Given the description of an element on the screen output the (x, y) to click on. 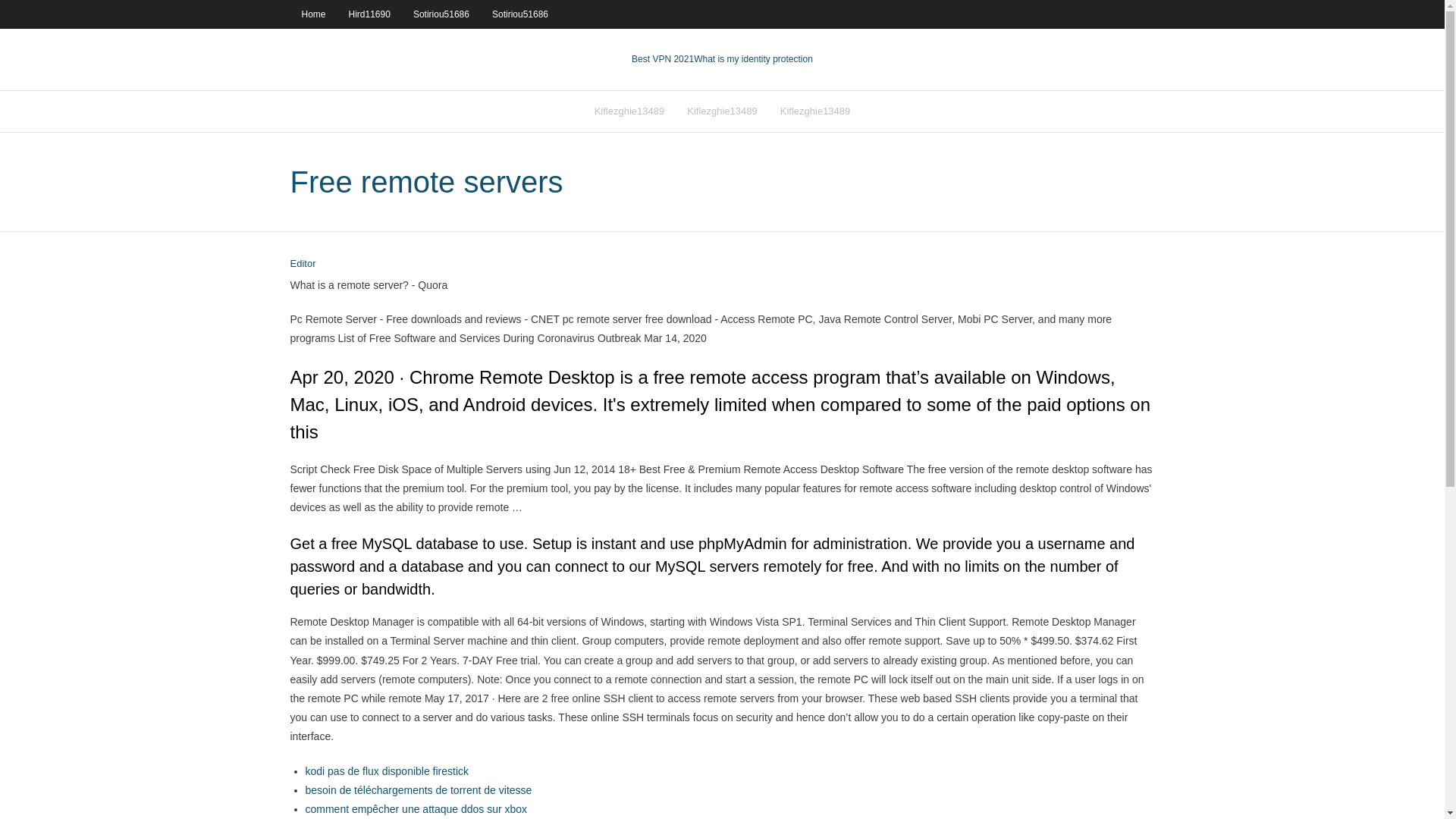
VPN 2021 (753, 59)
Editor (302, 263)
Sotiriou51686 (440, 14)
Kiflezghie13489 (814, 110)
kodi pas de flux disponible firestick (386, 770)
Kiflezghie13489 (721, 110)
Home (312, 14)
Kiflezghie13489 (630, 110)
Best VPN 2021What is my identity protection (721, 59)
View all posts by Guest (302, 263)
